Given the description of an element on the screen output the (x, y) to click on. 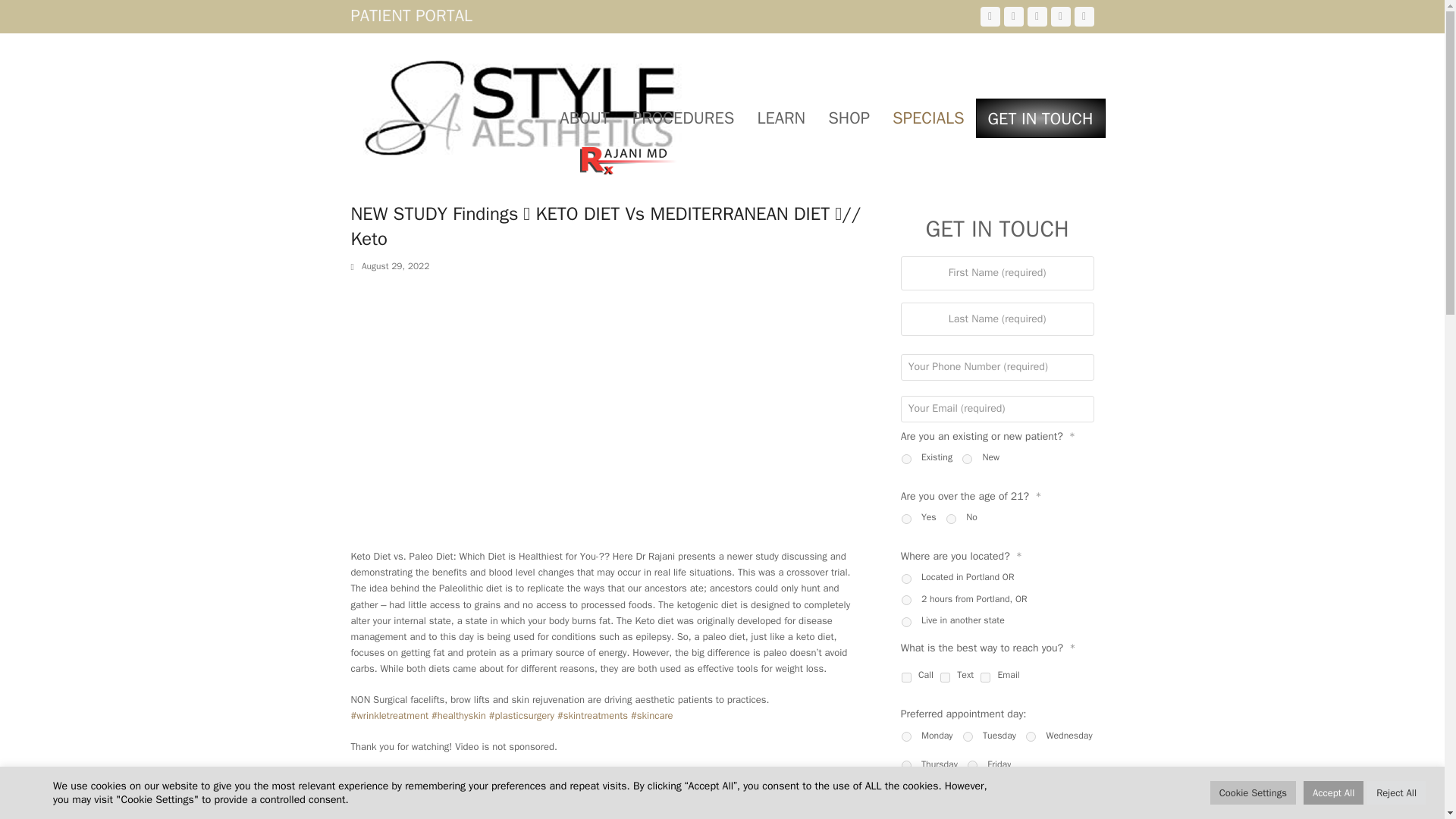
New (967, 459)
Monday (906, 737)
YouTube video player (562, 408)
Facebook (1013, 16)
Yes (906, 519)
2 hours from Portland, OR (906, 600)
Text (945, 677)
Instagram (1060, 16)
Wednesday (1030, 737)
Twitter (988, 16)
Thursday (906, 765)
Call (906, 677)
Friday (972, 765)
Located in Portland OR (906, 578)
YouTube (1036, 16)
